Given the description of an element on the screen output the (x, y) to click on. 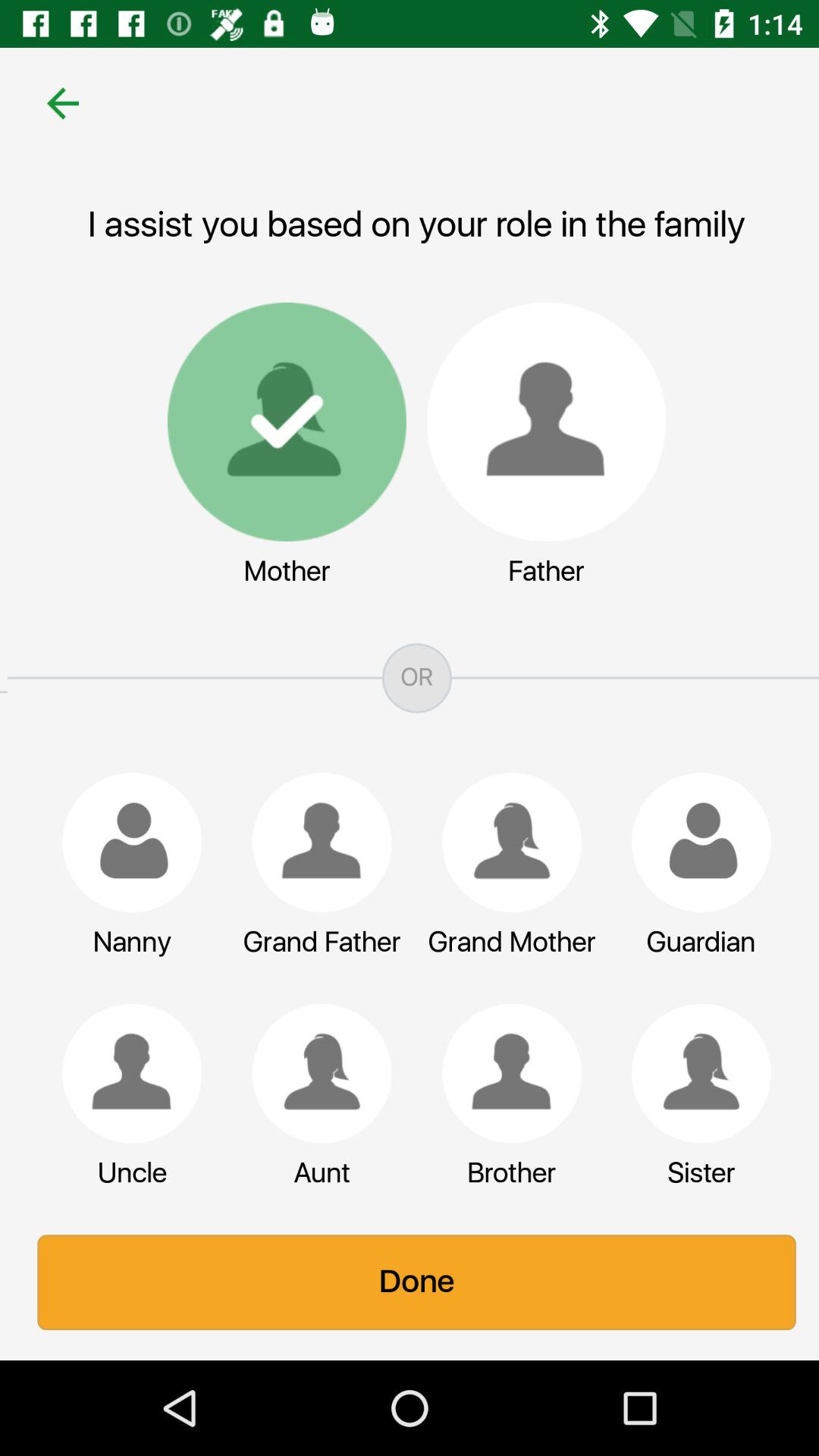
add nanny name (124, 842)
